Given the description of an element on the screen output the (x, y) to click on. 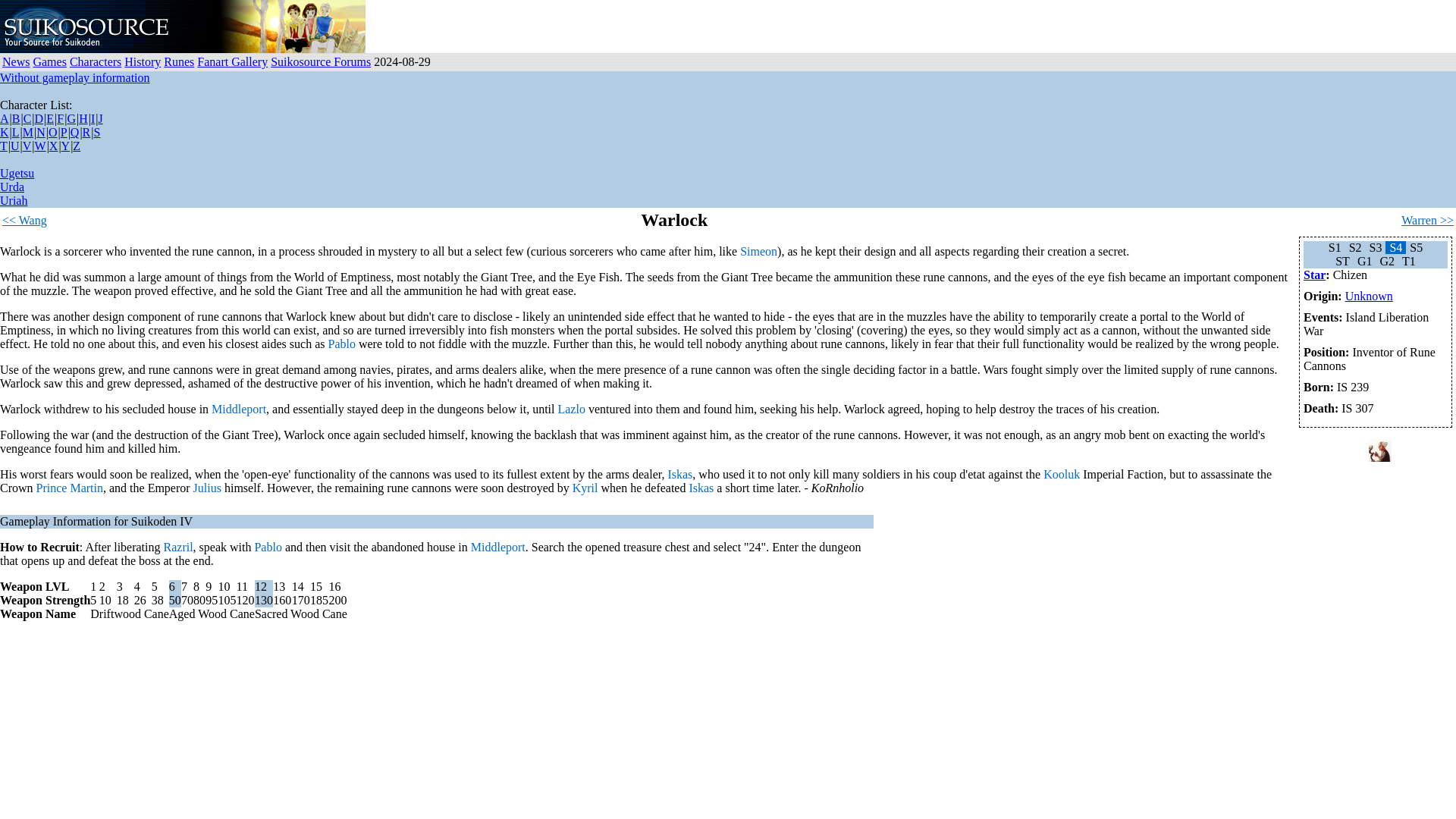
Uriah (13, 200)
Riou, Nanami, and Jowy (289, 26)
Urda (12, 186)
Suikosource Forums (320, 61)
Without gameplay information (74, 77)
Games (48, 61)
Fanart Gallery (231, 61)
Runes (178, 61)
News (15, 61)
Ugetsu (16, 173)
